Given the description of an element on the screen output the (x, y) to click on. 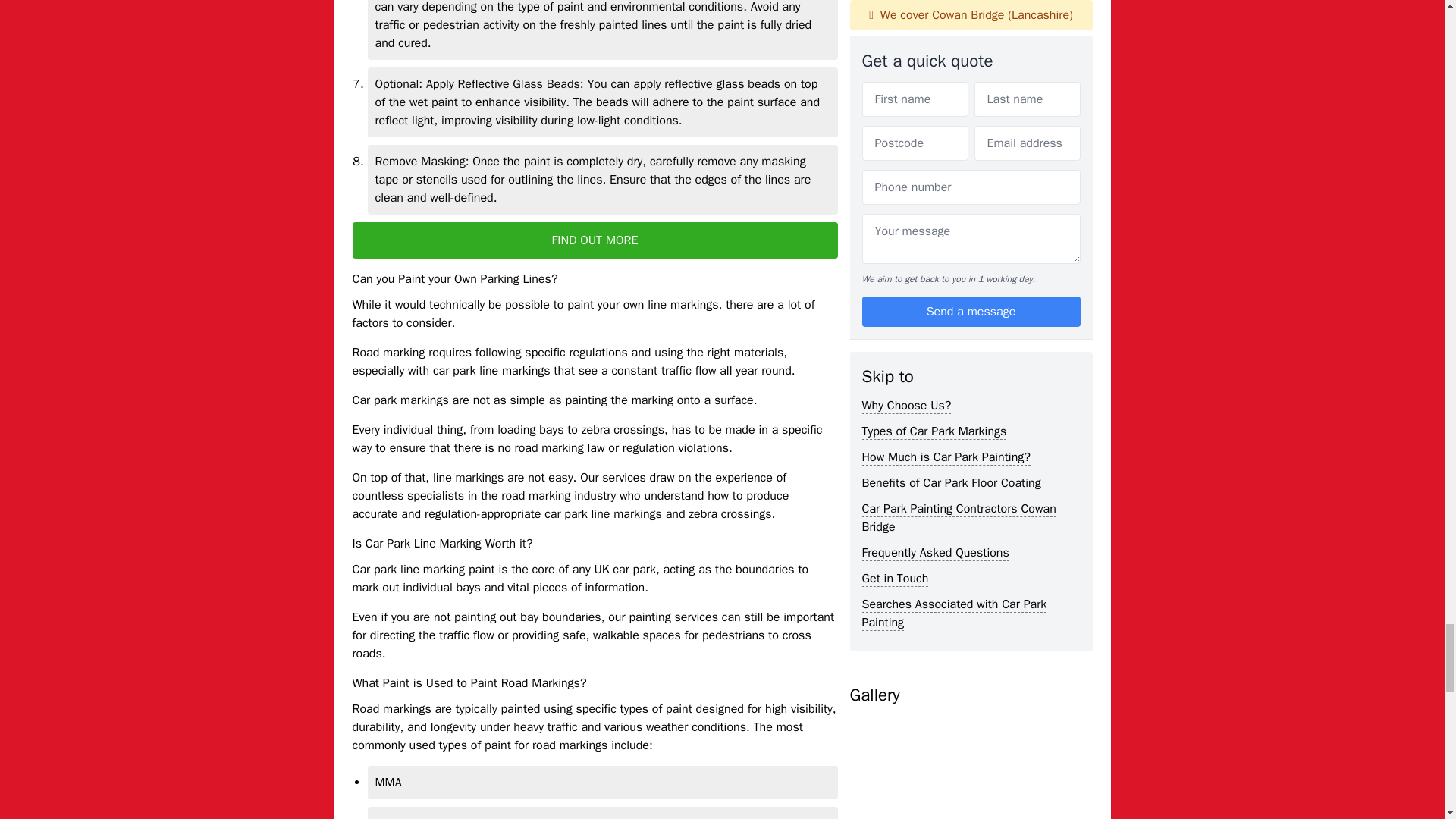
FIND OUT MORE (594, 239)
